Given the description of an element on the screen output the (x, y) to click on. 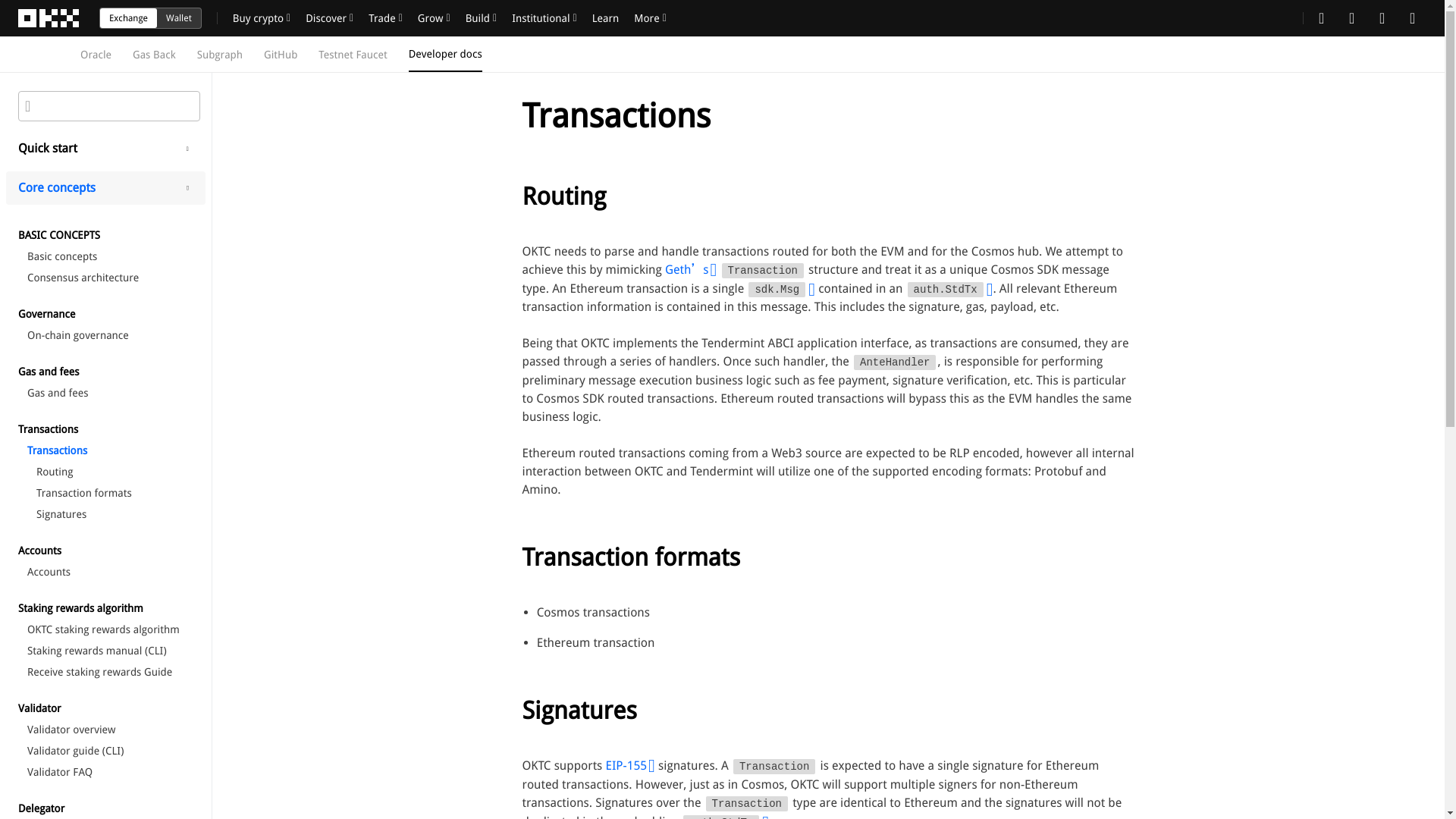
OKX (48, 17)
Wallet (178, 17)
Exchange (128, 17)
